Given the description of an element on the screen output the (x, y) to click on. 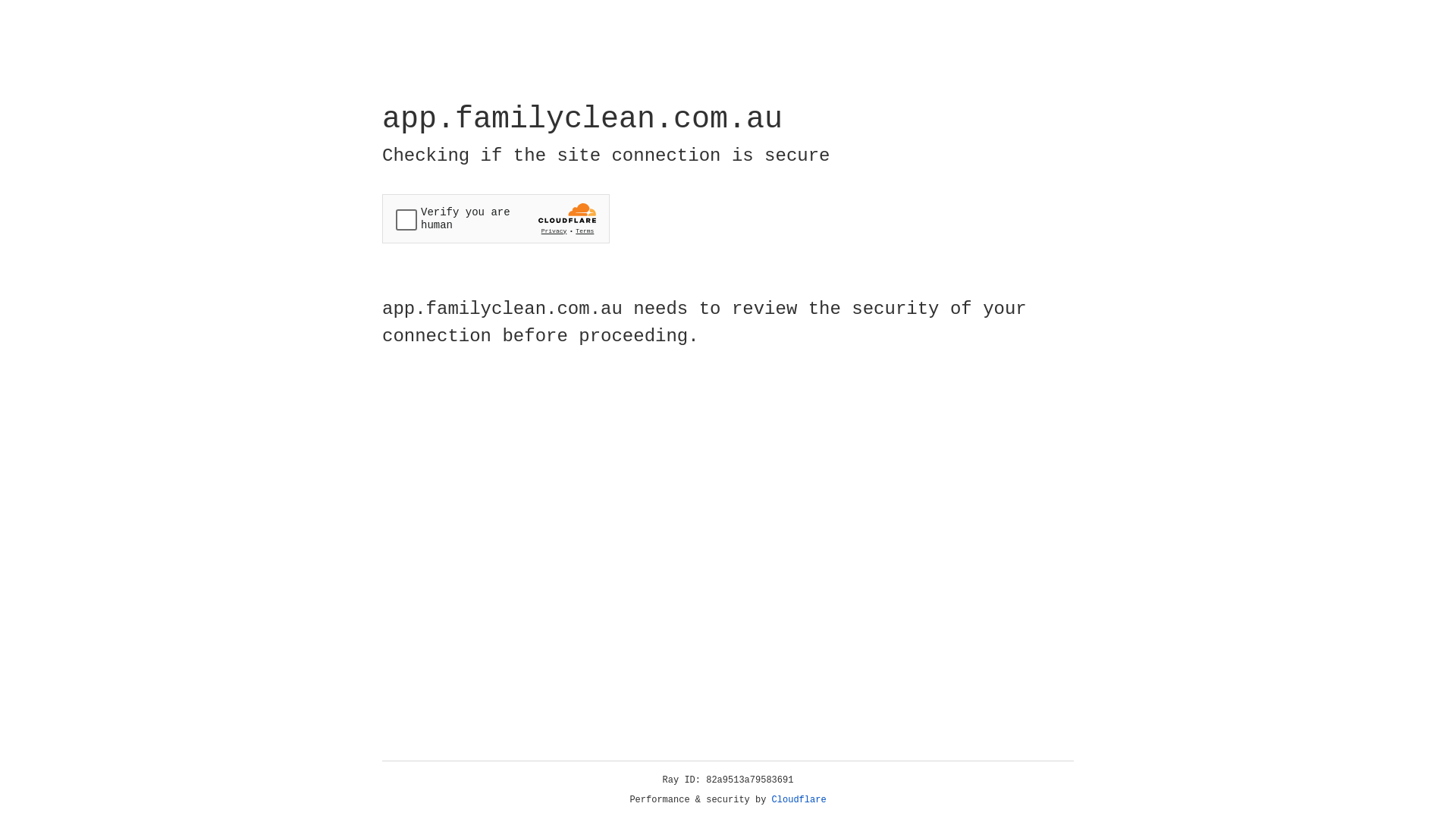
Widget containing a Cloudflare security challenge Element type: hover (495, 218)
Cloudflare Element type: text (798, 799)
